Given the description of an element on the screen output the (x, y) to click on. 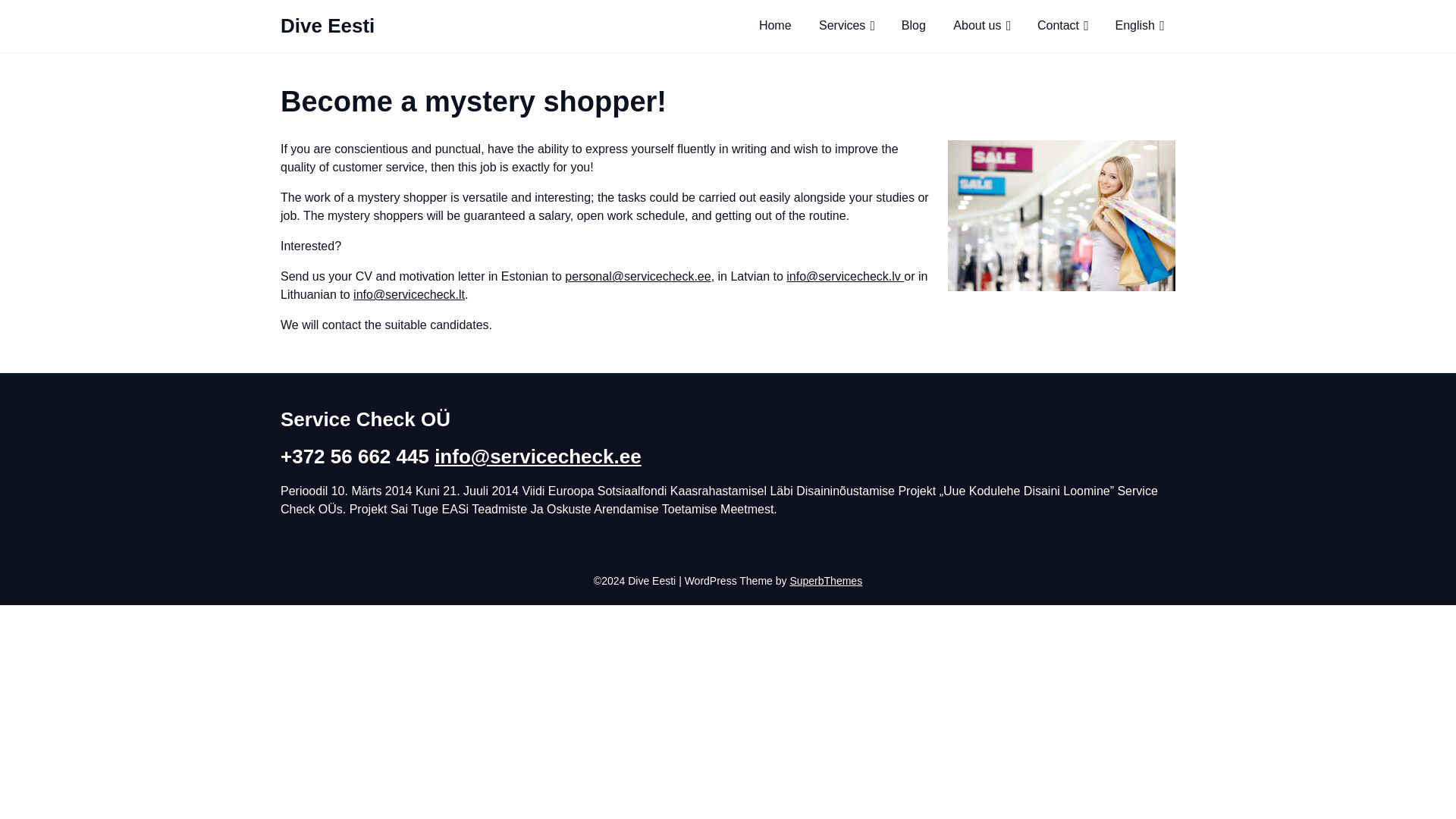
English (1135, 26)
Services (841, 26)
English (1135, 26)
SuperbThemes (825, 580)
Blog (913, 26)
Home (774, 26)
Dive Eesti (414, 26)
About us (976, 26)
Contact (1057, 26)
